Given the description of an element on the screen output the (x, y) to click on. 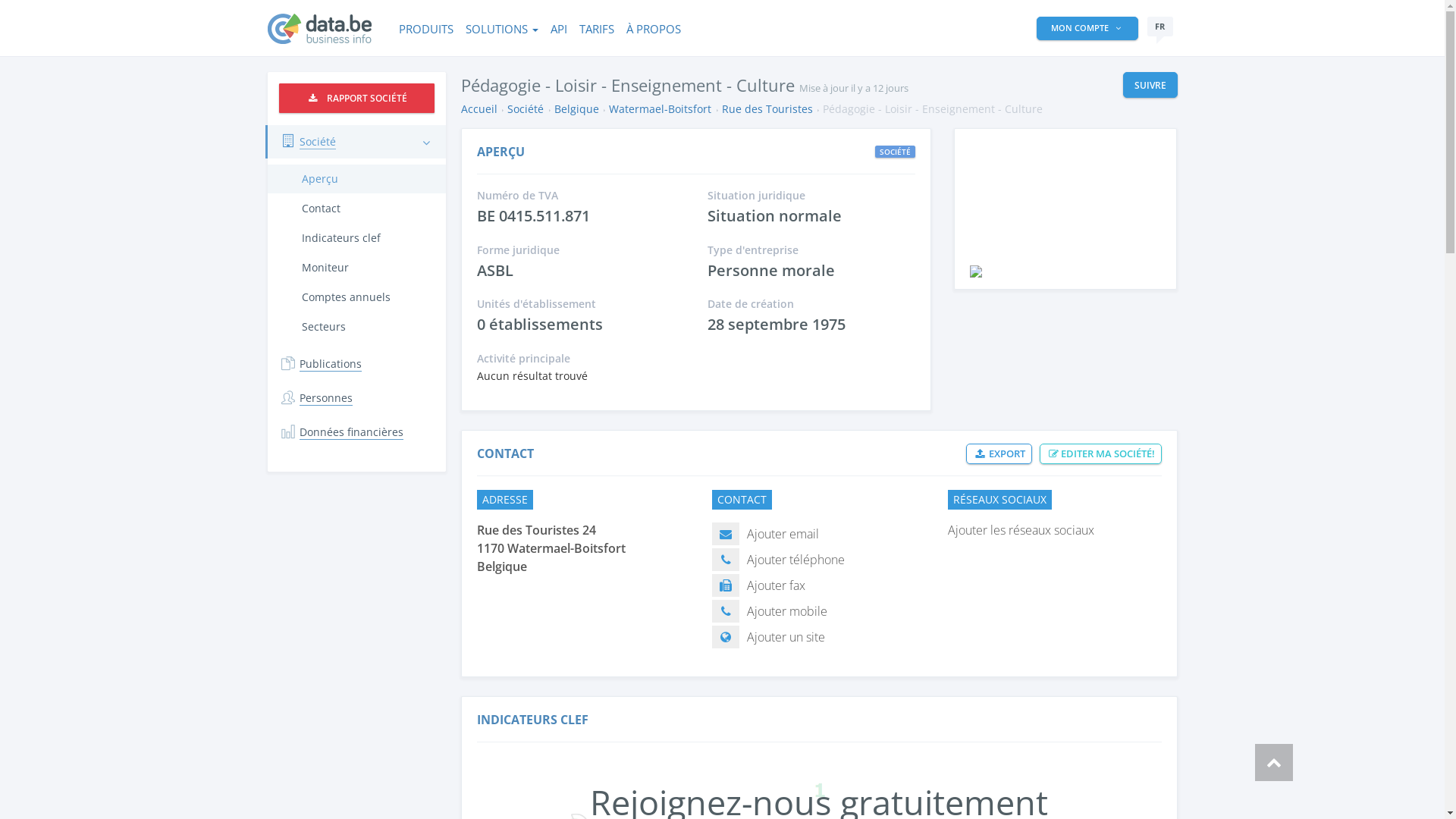
PRODUITS Element type: text (425, 28)
MON COMPTE  Element type: text (1087, 28)
Publications Element type: text (355, 363)
Watermael-Boitsfort Element type: text (659, 108)
Secteurs Element type: text (355, 326)
 EXPORT Element type: text (999, 453)
TARIFS Element type: text (596, 28)
SUIVRE Element type: text (1149, 84)
Personnes Element type: text (355, 397)
Moniteur Element type: text (355, 267)
Contact Element type: text (355, 208)
Belgique Element type: text (575, 108)
Indicateurs clef Element type: text (355, 237)
Rue des Touristes Element type: text (766, 108)
API Element type: text (558, 28)
SOLUTIONS Element type: text (501, 28)
Accueil Element type: text (479, 108)
Comptes annuels Element type: text (355, 296)
